Given the description of an element on the screen output the (x, y) to click on. 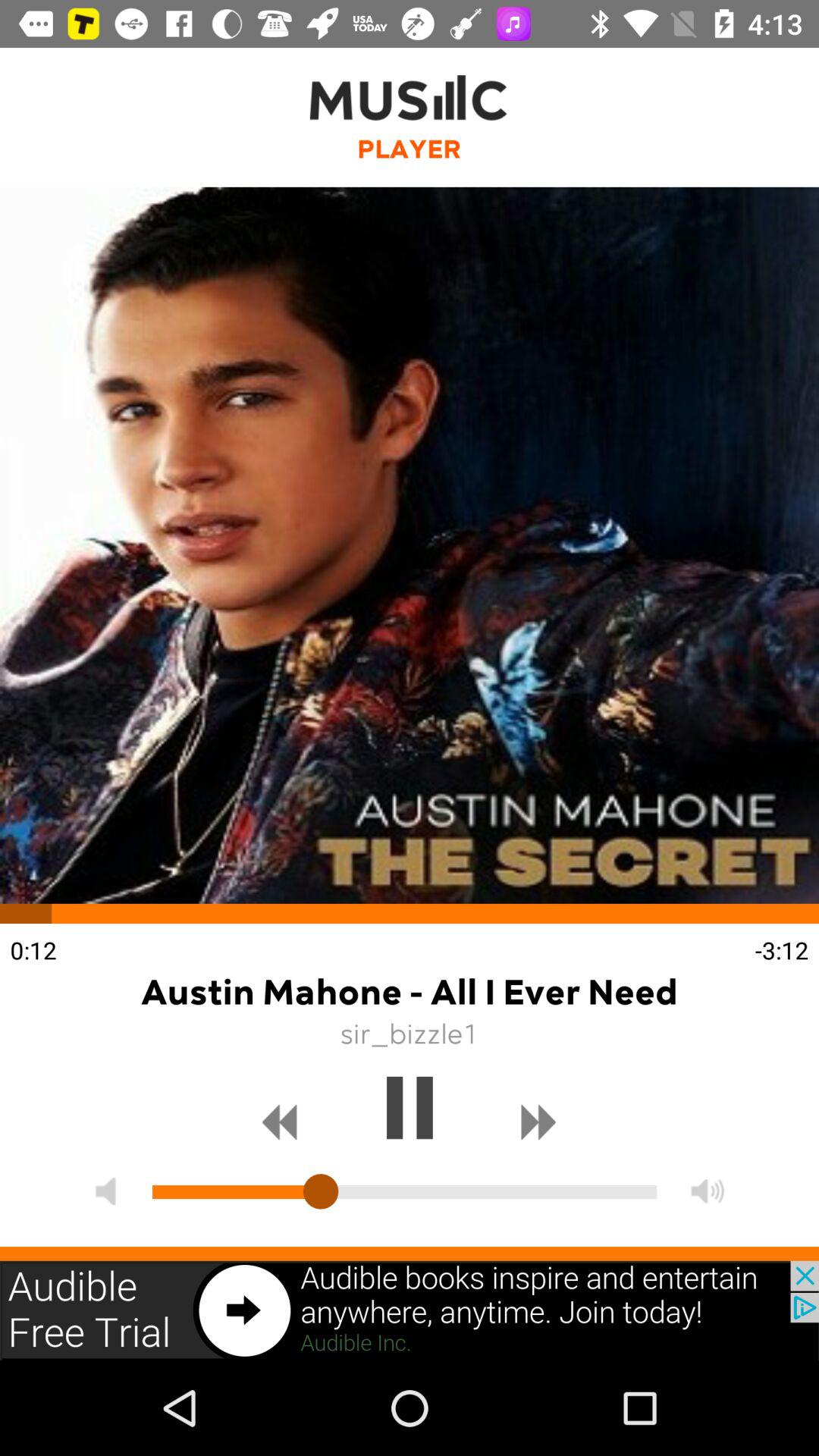
go back option (280, 1122)
